Given the description of an element on the screen output the (x, y) to click on. 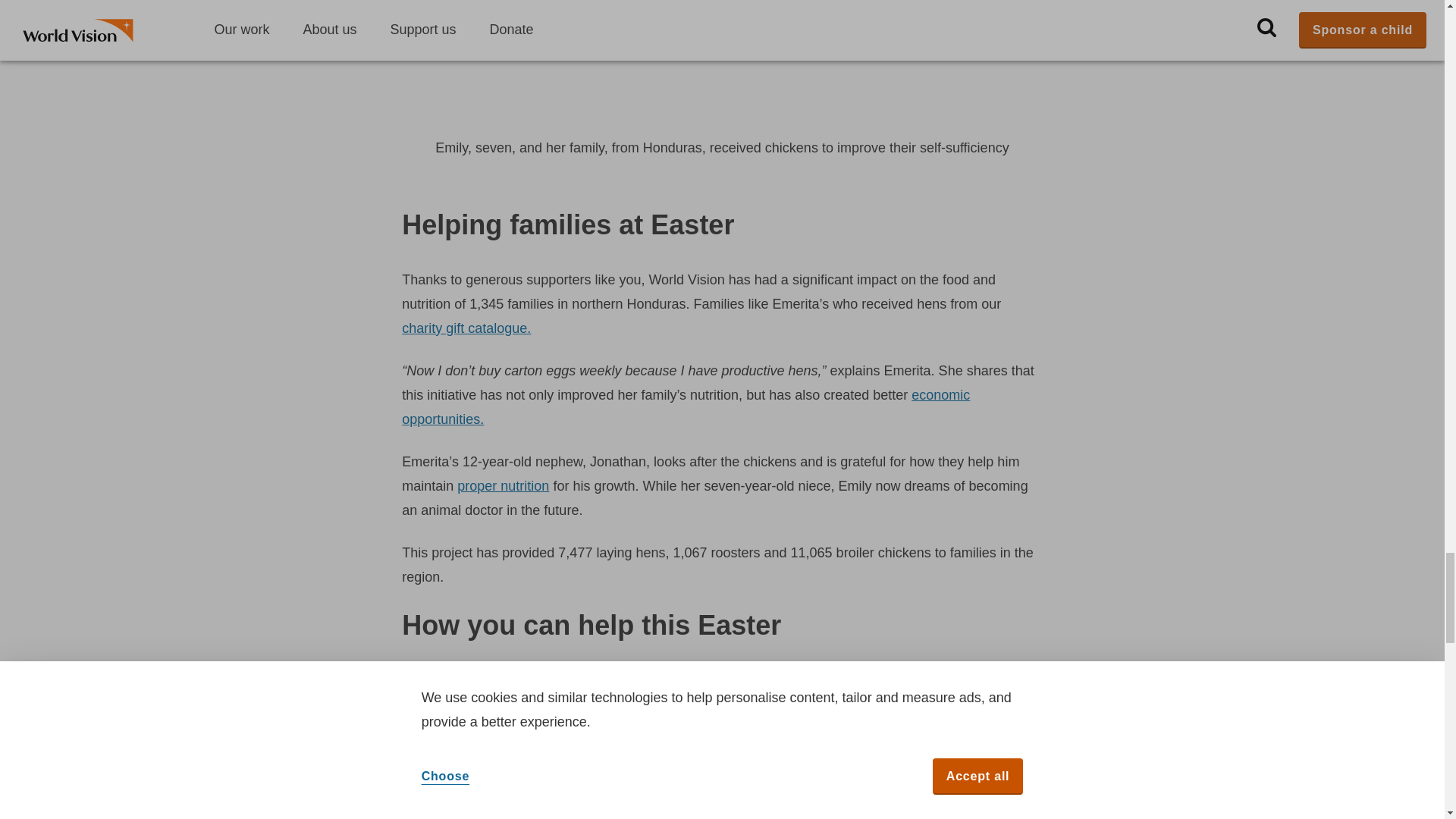
proper nutrition (502, 485)
economic opportunities (685, 406)
charity gift catalogue (466, 328)
